Given the description of an element on the screen output the (x, y) to click on. 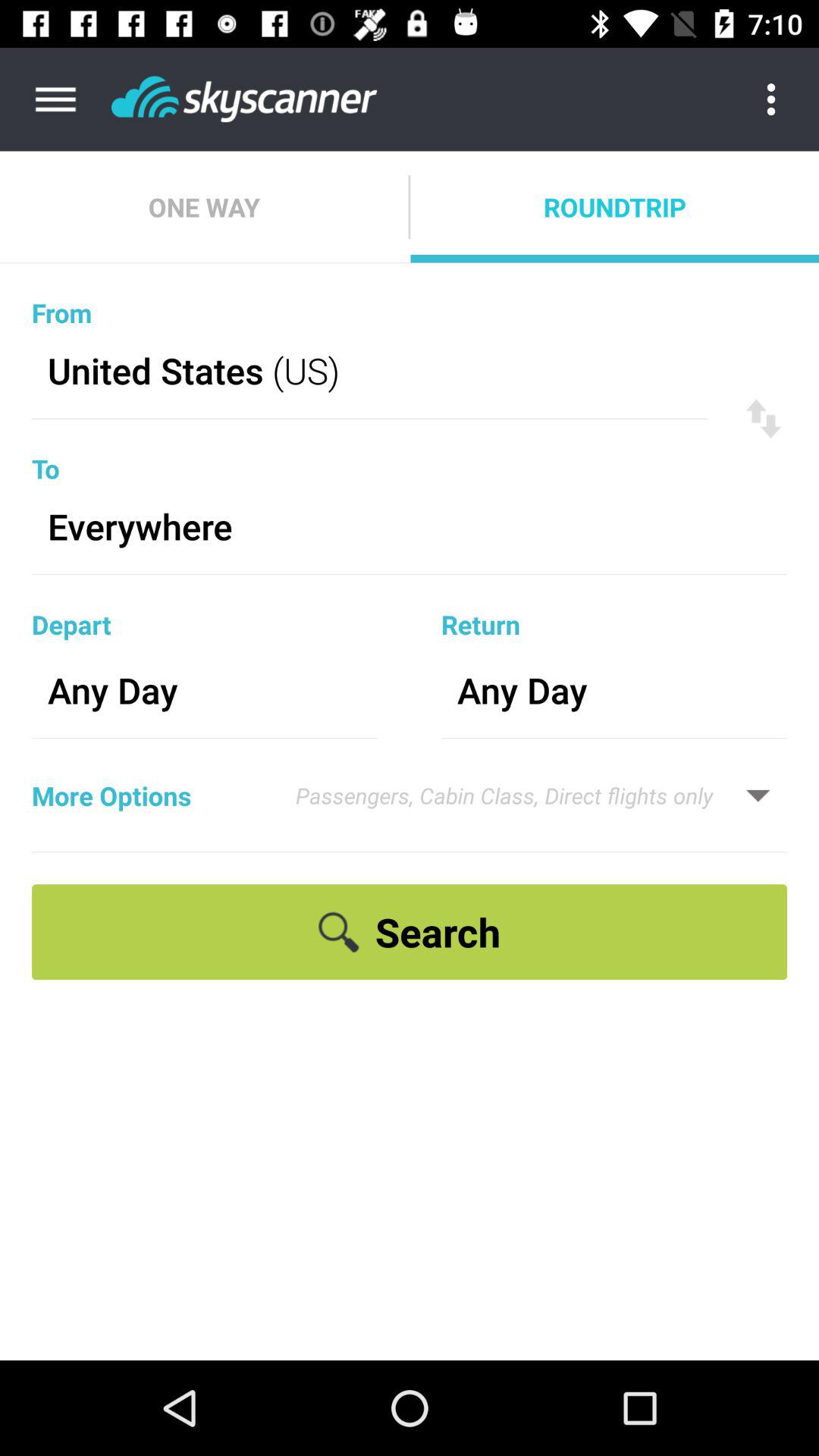
jump until the roundtrip item (614, 206)
